Given the description of an element on the screen output the (x, y) to click on. 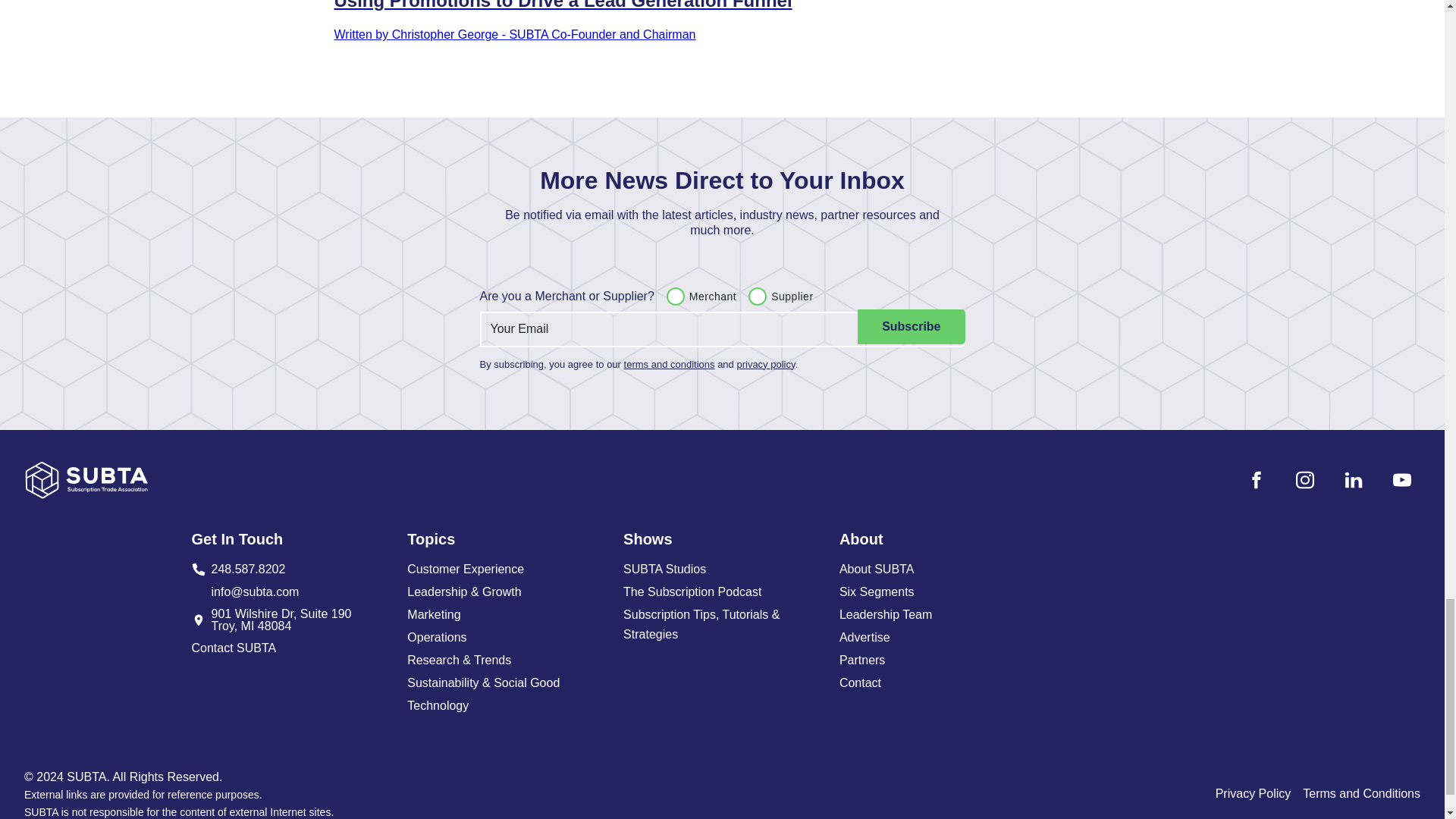
Marketing (506, 614)
privacy policy (765, 364)
Supplier (757, 296)
Merchant (675, 296)
Customer Experience (289, 620)
Contact SUBTA (506, 569)
Operations (289, 648)
248.587.8202 (506, 637)
Subscribe (289, 569)
terms and conditions (910, 326)
